Given the description of an element on the screen output the (x, y) to click on. 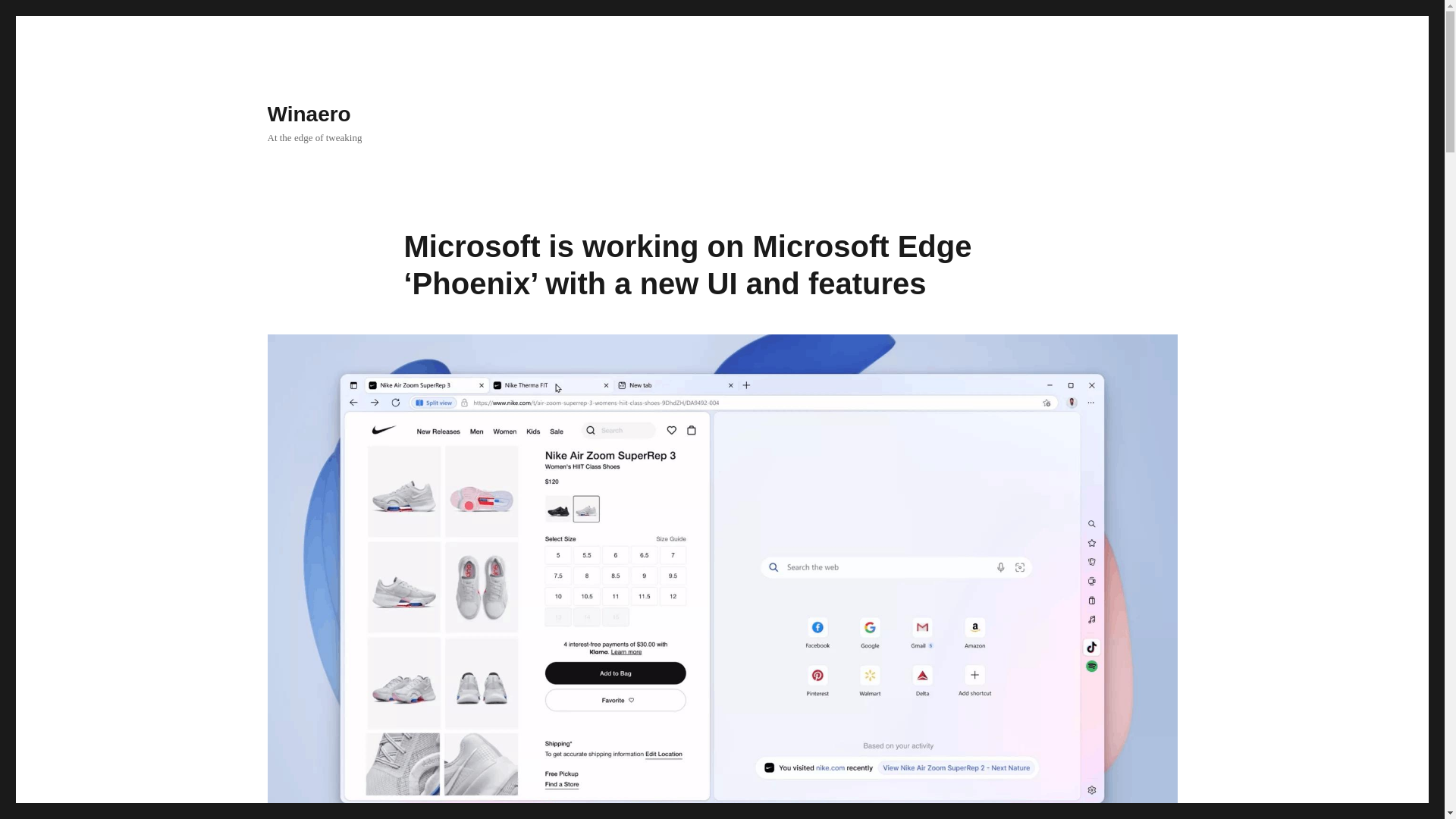
Winaero (308, 114)
